Given the description of an element on the screen output the (x, y) to click on. 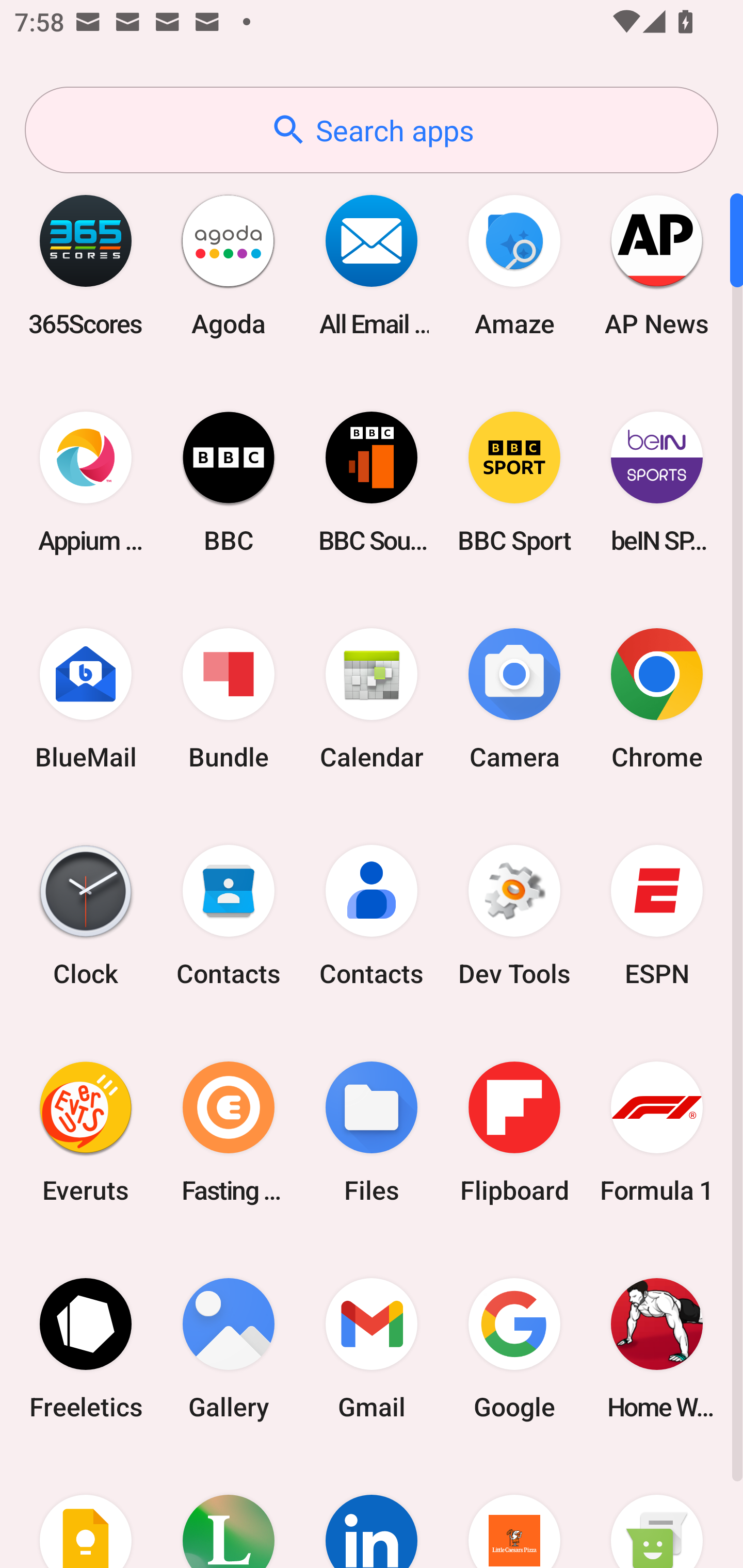
  Search apps (371, 130)
365Scores (85, 264)
Agoda (228, 264)
All Email Connect (371, 264)
Amaze (514, 264)
AP News (656, 264)
Appium Settings (85, 482)
BBC (228, 482)
BBC Sounds (371, 482)
BBC Sport (514, 482)
beIN SPORTS (656, 482)
BlueMail (85, 699)
Bundle (228, 699)
Calendar (371, 699)
Camera (514, 699)
Chrome (656, 699)
Clock (85, 915)
Contacts (228, 915)
Contacts (371, 915)
Dev Tools (514, 915)
ESPN (656, 915)
Everuts (85, 1131)
Fasting Coach (228, 1131)
Files (371, 1131)
Flipboard (514, 1131)
Formula 1 (656, 1131)
Freeletics (85, 1348)
Gallery (228, 1348)
Gmail (371, 1348)
Google (514, 1348)
Home Workout (656, 1348)
Keep Notes (85, 1512)
Lifesum (228, 1512)
LinkedIn (371, 1512)
Little Caesars Pizza (514, 1512)
Messaging (656, 1512)
